Given the description of an element on the screen output the (x, y) to click on. 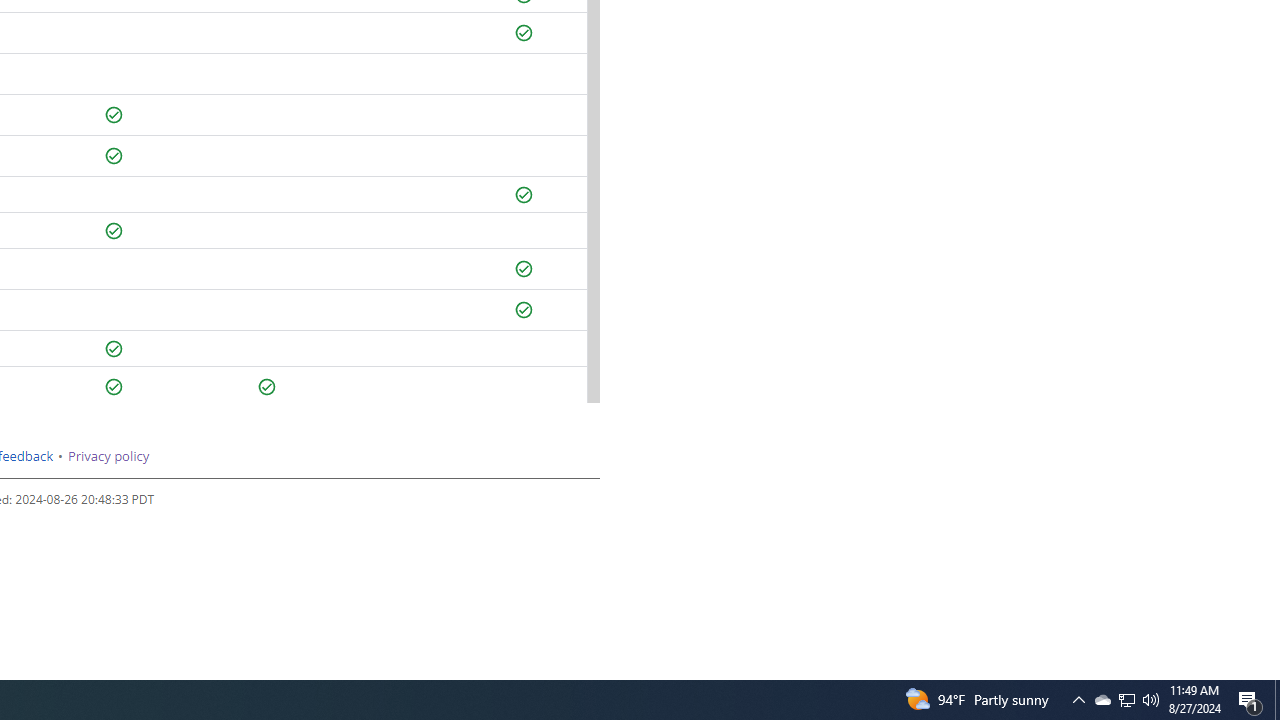
Privacy policy (107, 456)
Available status (267, 387)
